Given the description of an element on the screen output the (x, y) to click on. 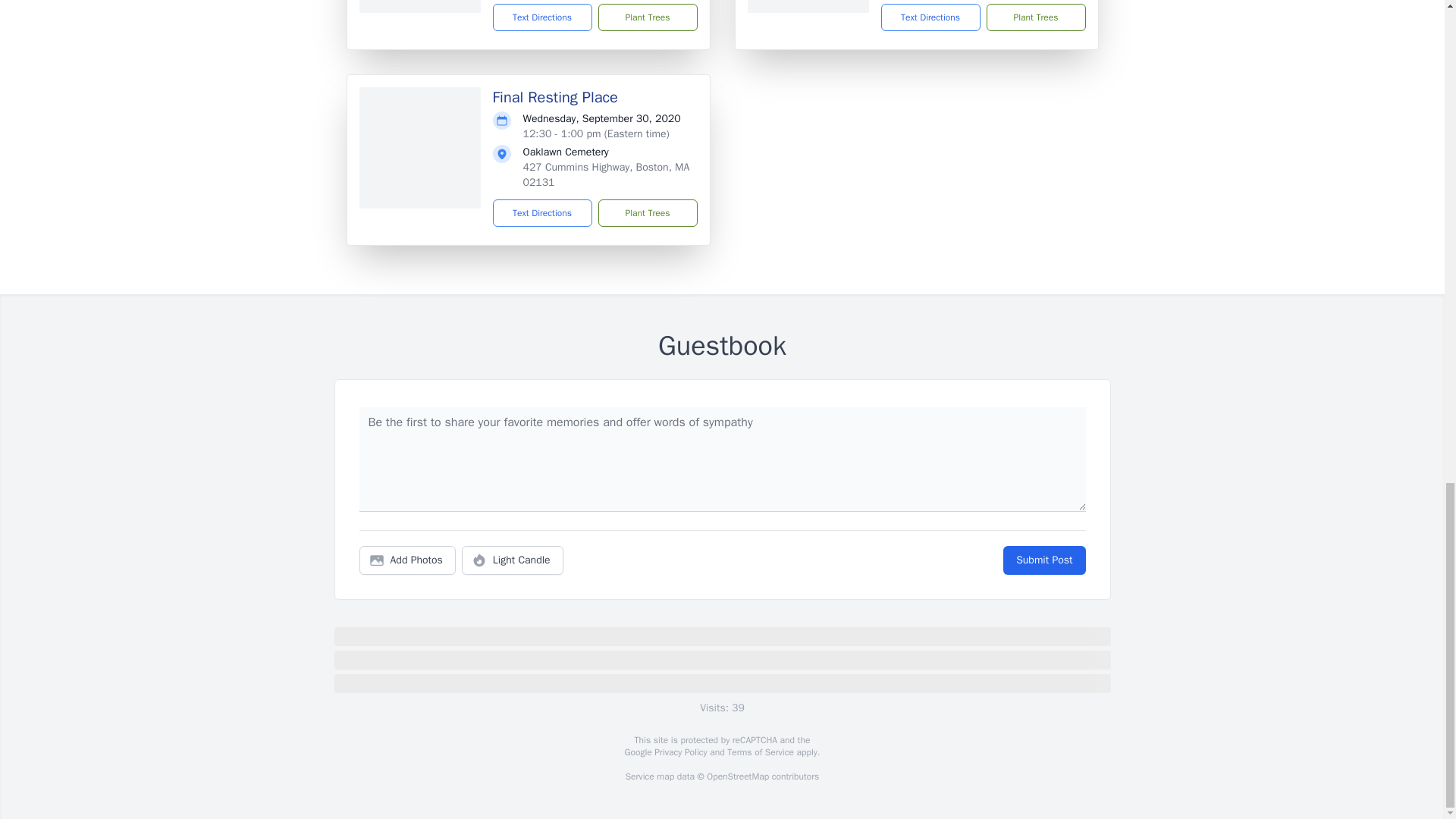
Plant Trees (646, 17)
Plant Trees (1034, 17)
Text Directions (542, 212)
Privacy Policy (679, 752)
Text Directions (929, 17)
Light Candle (512, 560)
Plant Trees (646, 212)
Submit Post (1043, 560)
Text Directions (542, 17)
427 Cummins Highway, Boston, MA 02131 (606, 174)
